Given the description of an element on the screen output the (x, y) to click on. 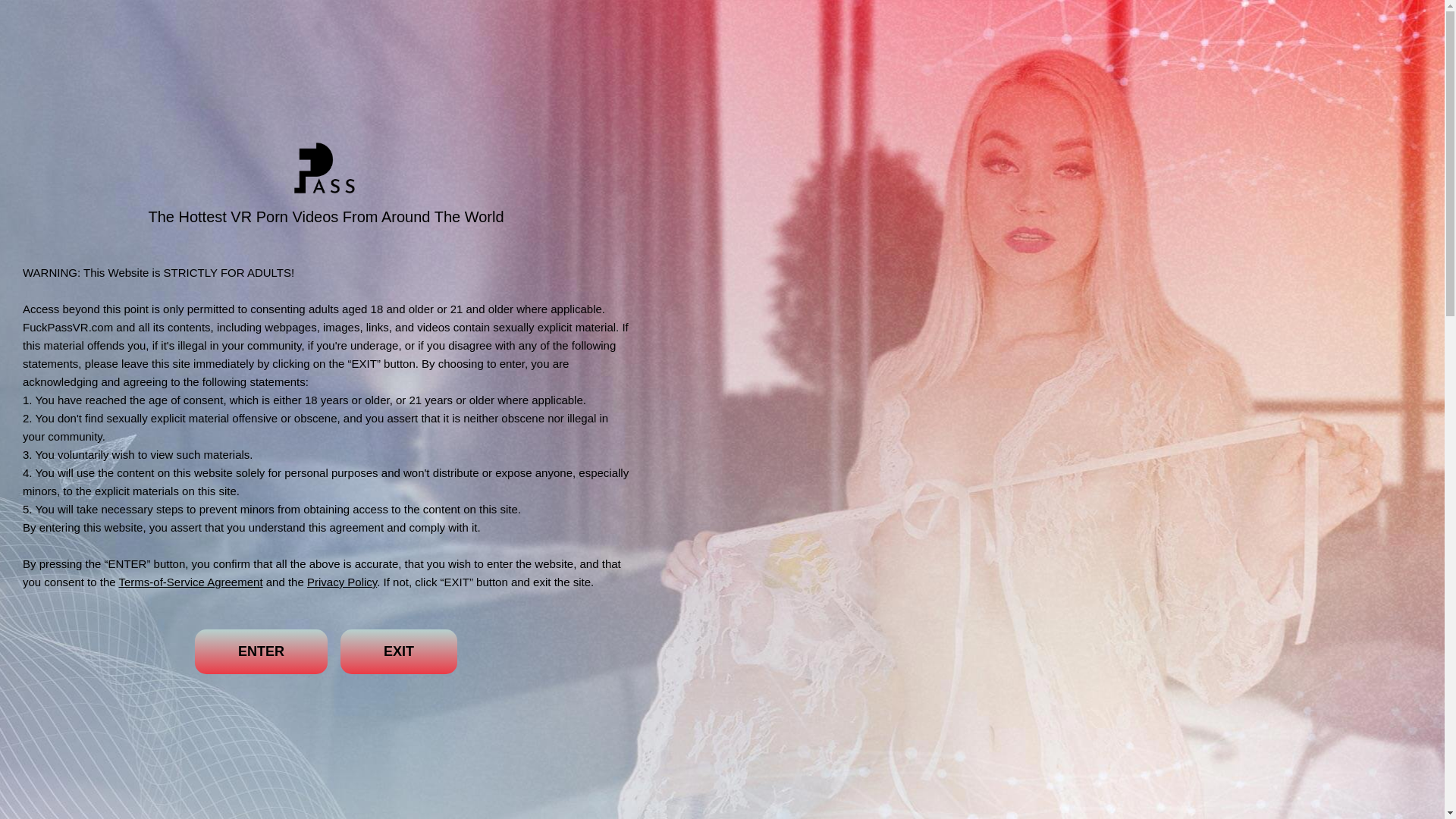
Karoll Ferraz (801, 602)
Join now (1337, 22)
ABOUT (117, 641)
320 (877, 601)
Karoll Ferraz (801, 602)
DESTINATION (234, 22)
PORNSTARS (533, 22)
DOWNLOADS (117, 672)
PHOTOS (117, 703)
Login (1247, 22)
CATEGORIES (385, 22)
Read More (208, 714)
